Given the description of an element on the screen output the (x, y) to click on. 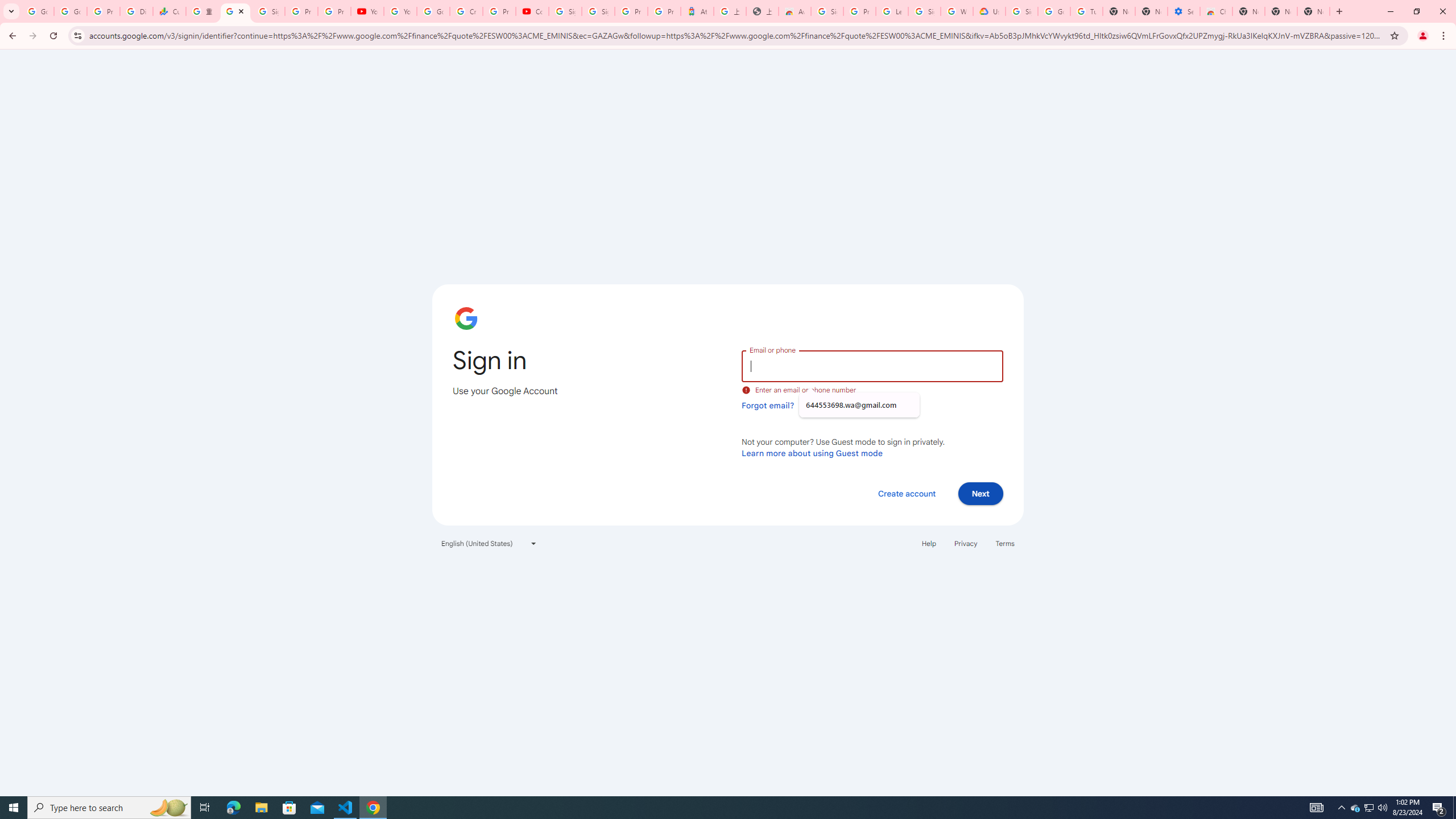
Forgot email? (767, 404)
Create your Google Account (465, 11)
